Given the description of an element on the screen output the (x, y) to click on. 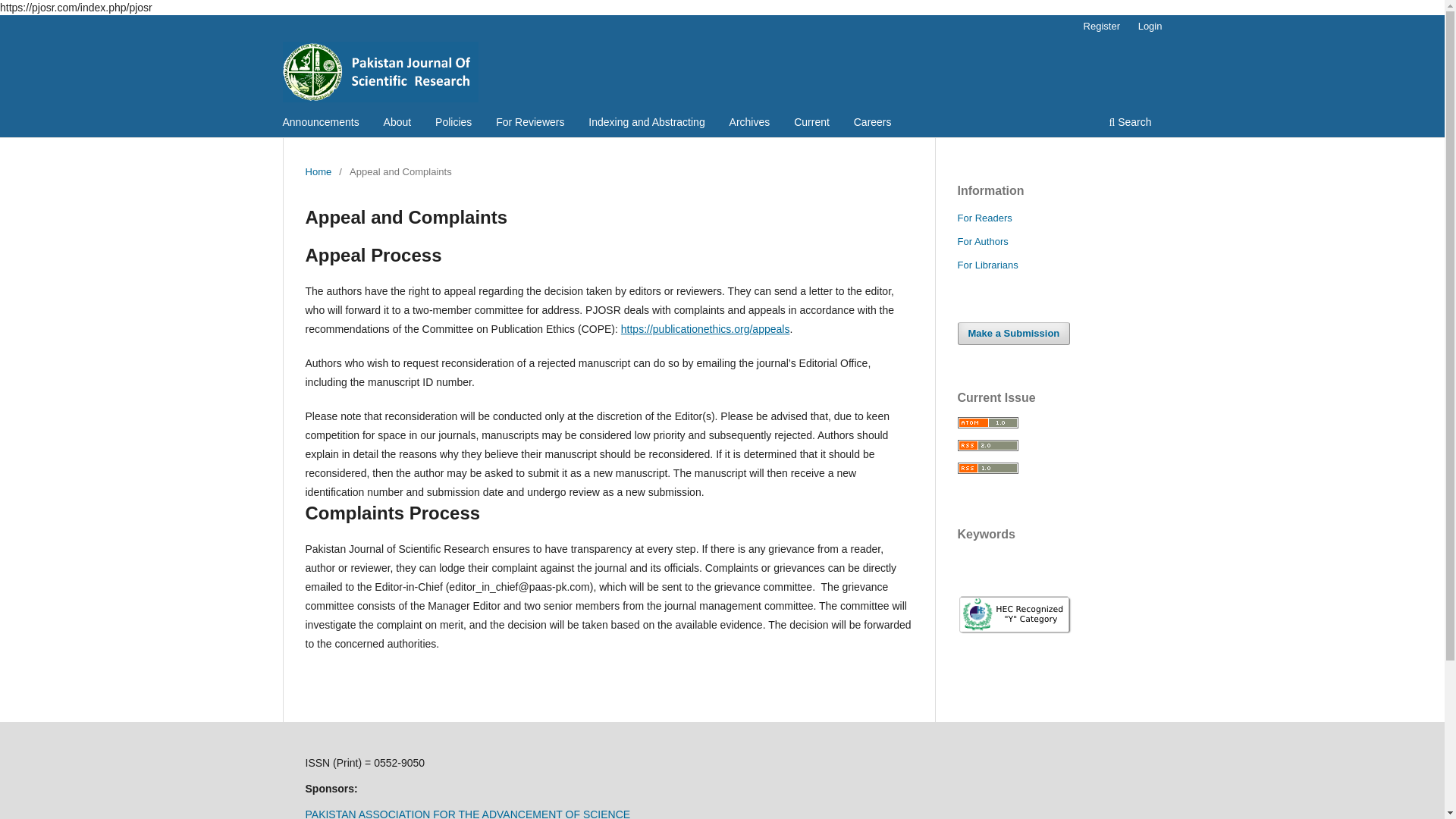
Current (811, 123)
Policies (453, 123)
Archives (749, 123)
Announcements (321, 123)
Register (1100, 26)
Search (1129, 123)
Home (317, 171)
Careers (872, 123)
Indexing and Abstracting (646, 123)
About (397, 123)
